Given the description of an element on the screen output the (x, y) to click on. 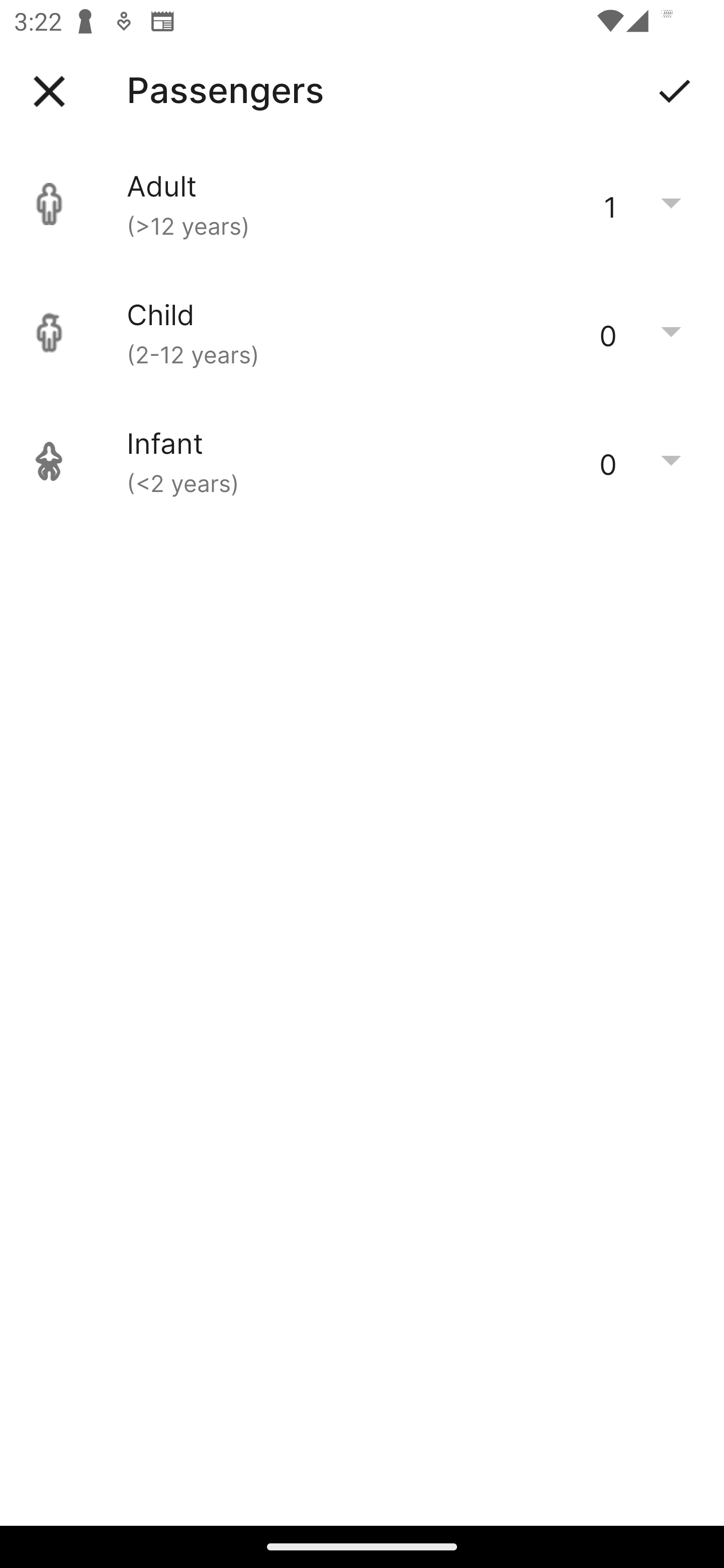
Adult (>12 years) 1 (362, 204)
Child (2-12 years) 0 (362, 332)
Infant (<2 years) 0 (362, 461)
